Given the description of an element on the screen output the (x, y) to click on. 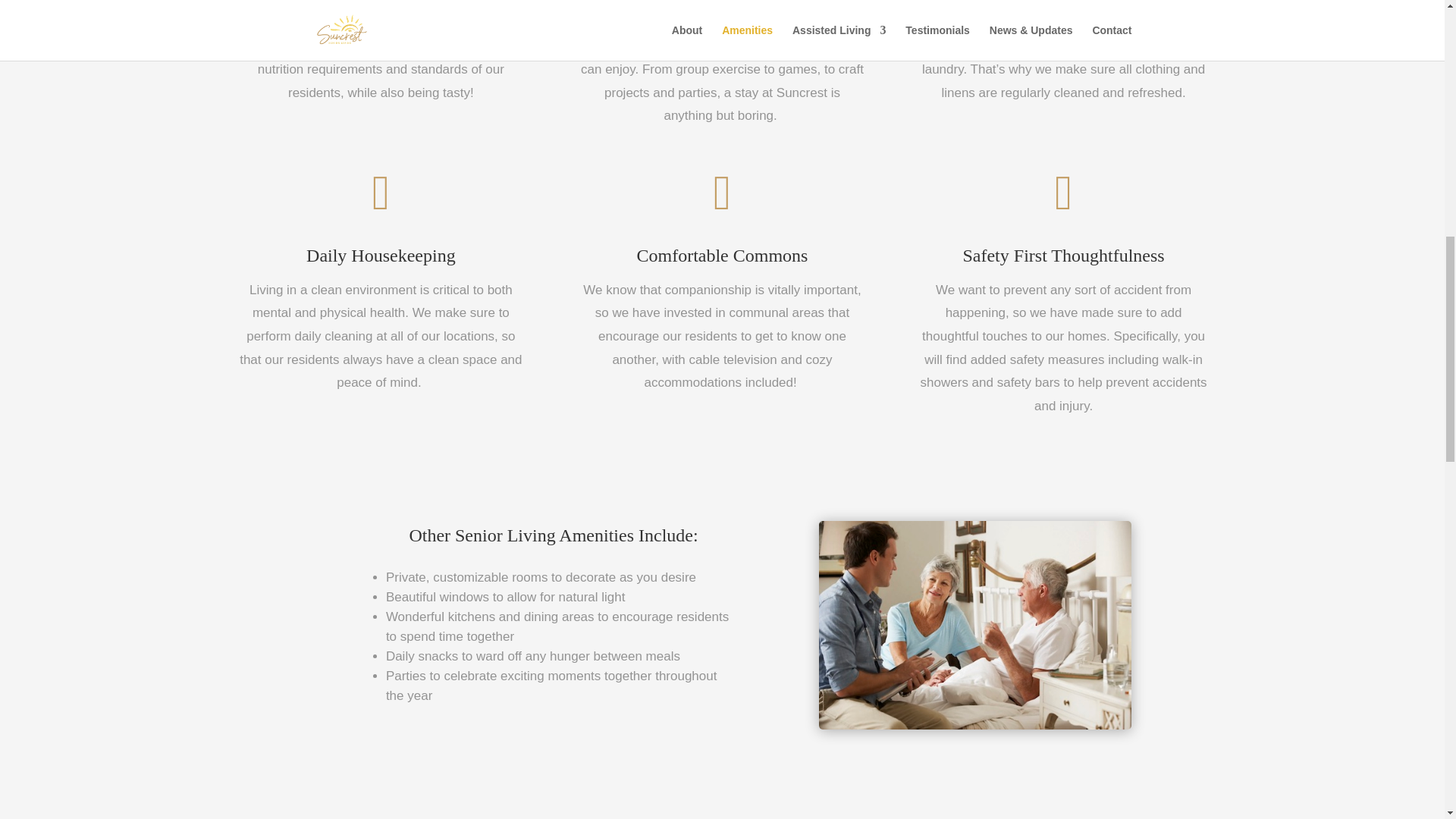
suncrest-care-professional-with-family (975, 624)
